Given the description of an element on the screen output the (x, y) to click on. 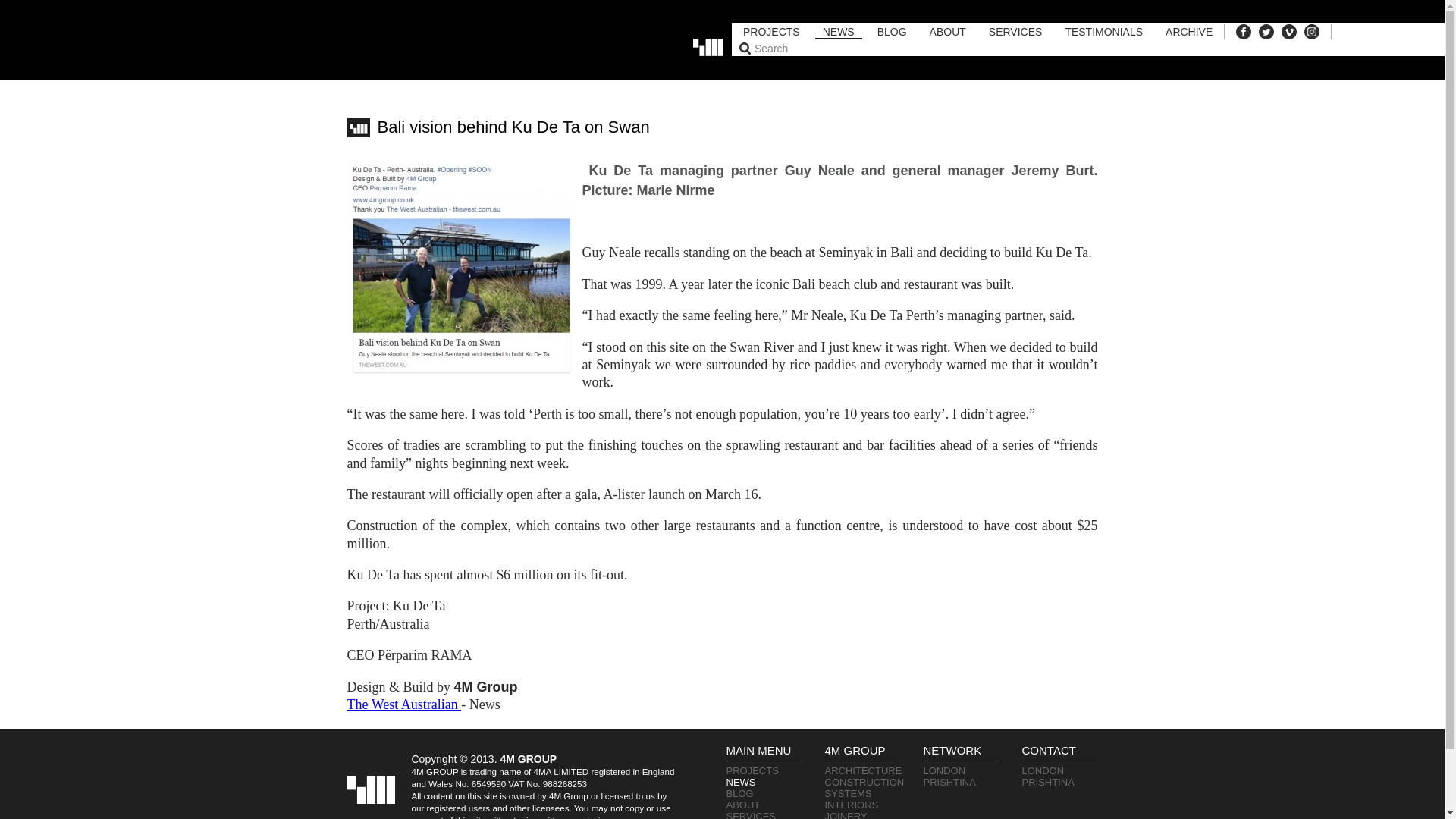
SERVICES (1015, 30)
The West Australian (404, 703)
PRISHTINA (1048, 781)
BLOG (740, 793)
INTERIORS (852, 804)
ARCHIVE (1188, 30)
PRISHTINA (949, 781)
SERVICES (751, 814)
PROJECTS (752, 770)
TESTIMONIALS (1103, 30)
ABOUT (743, 804)
CONSTRUCTION (864, 781)
ABOUT (947, 30)
PROJECTS (771, 30)
BLOG (891, 30)
